Given the description of an element on the screen output the (x, y) to click on. 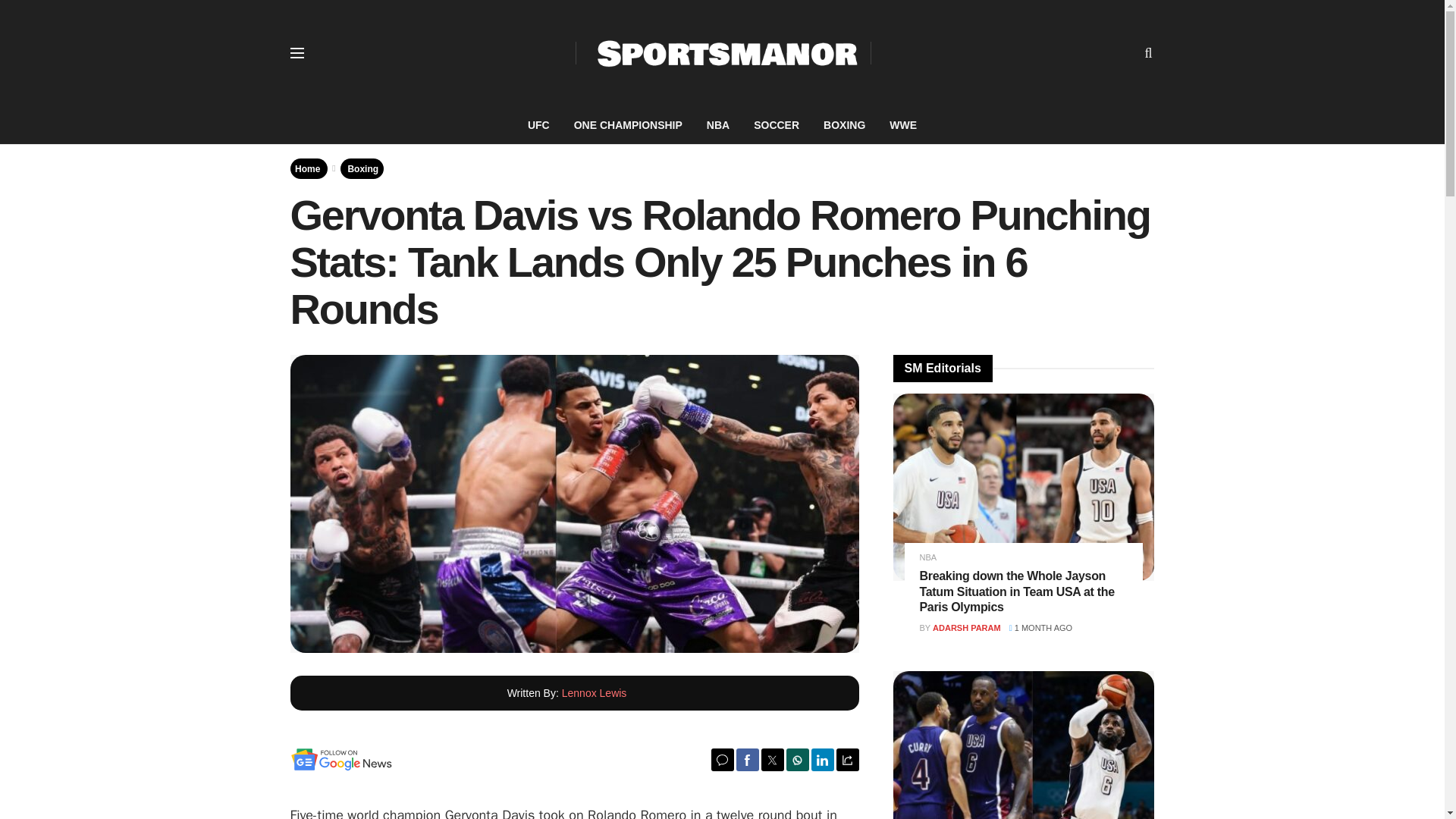
ONE CHAMPIONSHIP (628, 125)
BOXING (843, 125)
Boxing (362, 167)
SOCCER (775, 125)
UFC (538, 125)
Home (307, 167)
NBA (717, 125)
WWE (902, 125)
Lennox Lewis (594, 693)
